Given the description of an element on the screen output the (x, y) to click on. 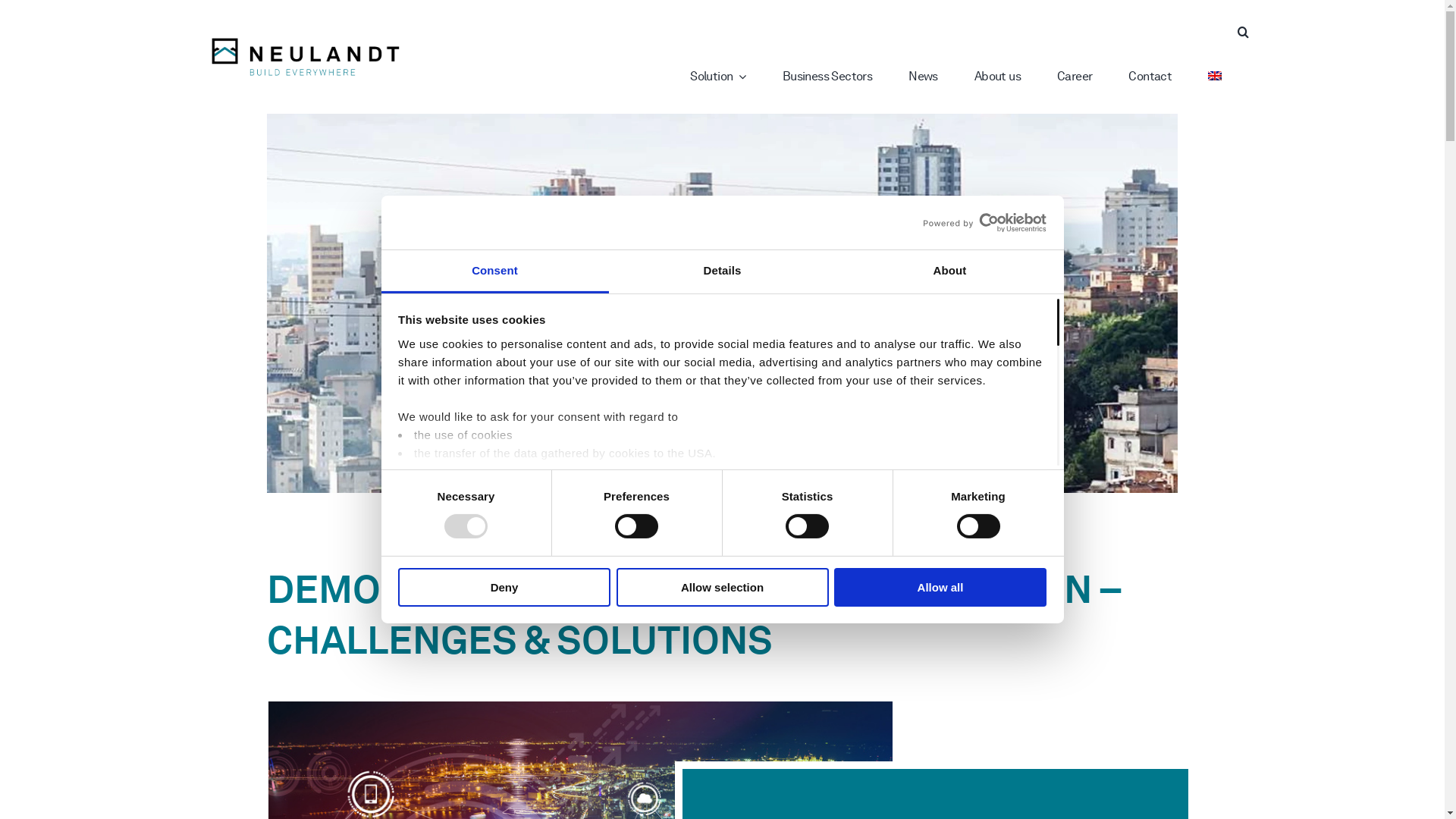
Consent Element type: text (494, 271)
Career Element type: text (1092, 76)
Solution Element type: text (736, 76)
Details Element type: text (721, 271)
Allow all Element type: text (940, 586)
Contact Element type: text (1168, 76)
Allow selection Element type: text (721, 586)
News Element type: text (941, 76)
About Element type: text (949, 271)
Search Element type: hover (1247, 31)
Business Sectors Element type: text (845, 76)
Deny Element type: text (504, 586)
About us Element type: text (1015, 76)
